Given the description of an element on the screen output the (x, y) to click on. 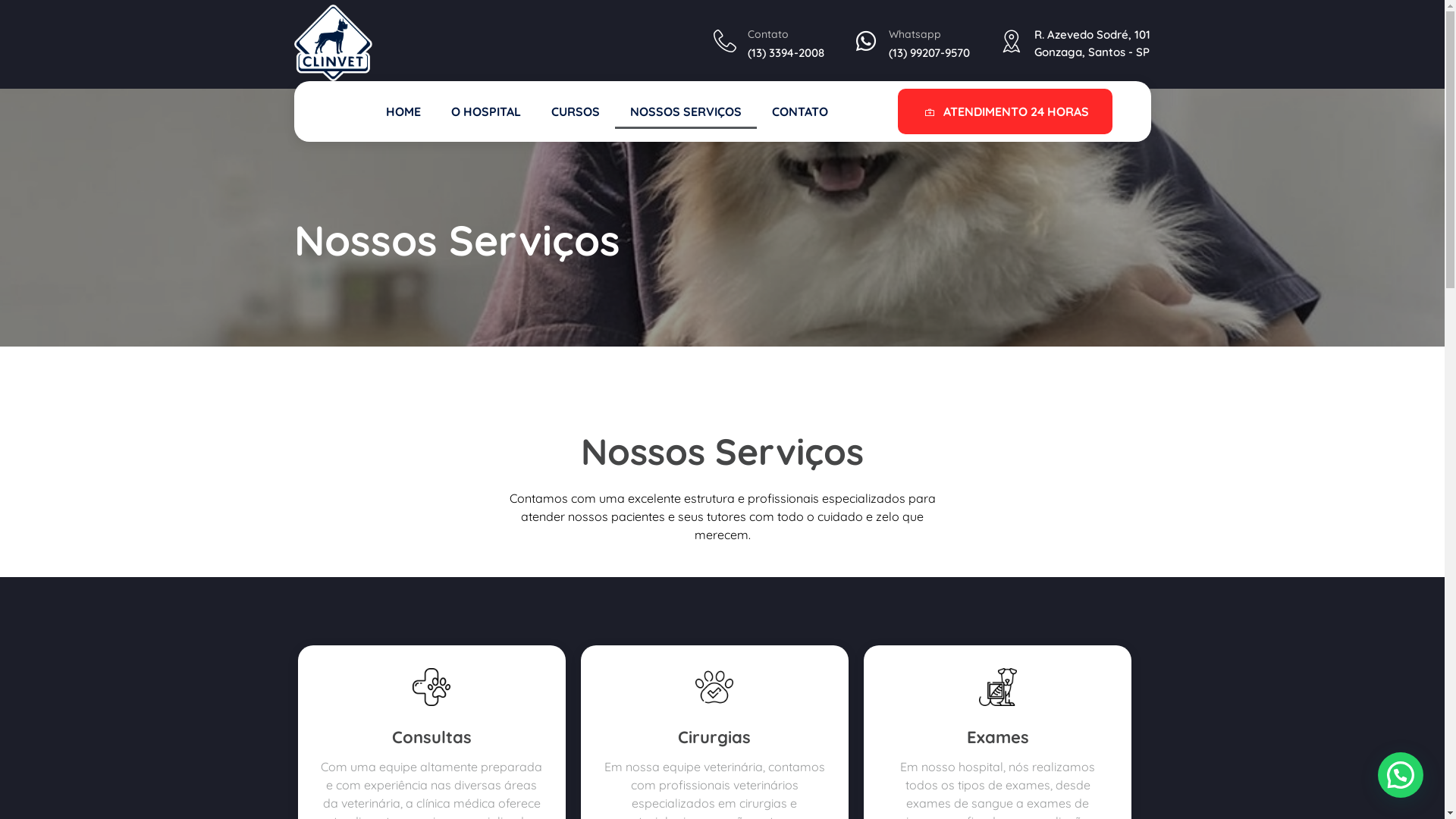
CONTATO Element type: text (799, 111)
HOME Element type: text (403, 111)
O HOSPITAL Element type: text (486, 111)
ATENDIMENTO 24 HORAS Element type: text (1004, 110)
Contato Element type: text (767, 33)
CURSOS Element type: text (575, 111)
Whatsapp Element type: text (914, 33)
